Given the description of an element on the screen output the (x, y) to click on. 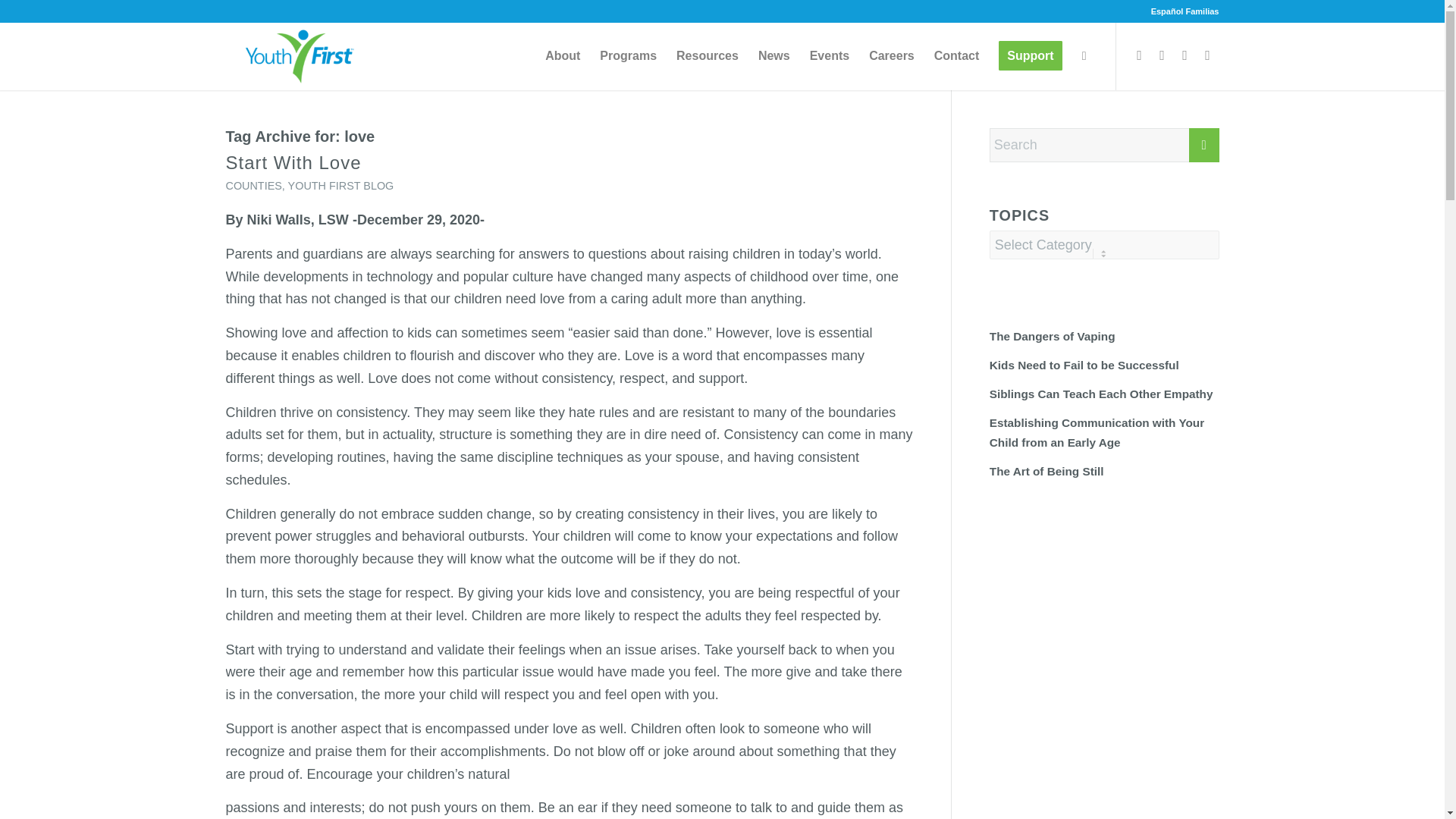
Programs (627, 56)
Read: The Dangers of Vaping (1052, 336)
Instagram (1184, 55)
Permanent Link: Start With Love (293, 162)
X (1162, 55)
Facebook (1139, 55)
Youtube (1208, 55)
About (562, 56)
Click to start search (1204, 144)
